Given the description of an element on the screen output the (x, y) to click on. 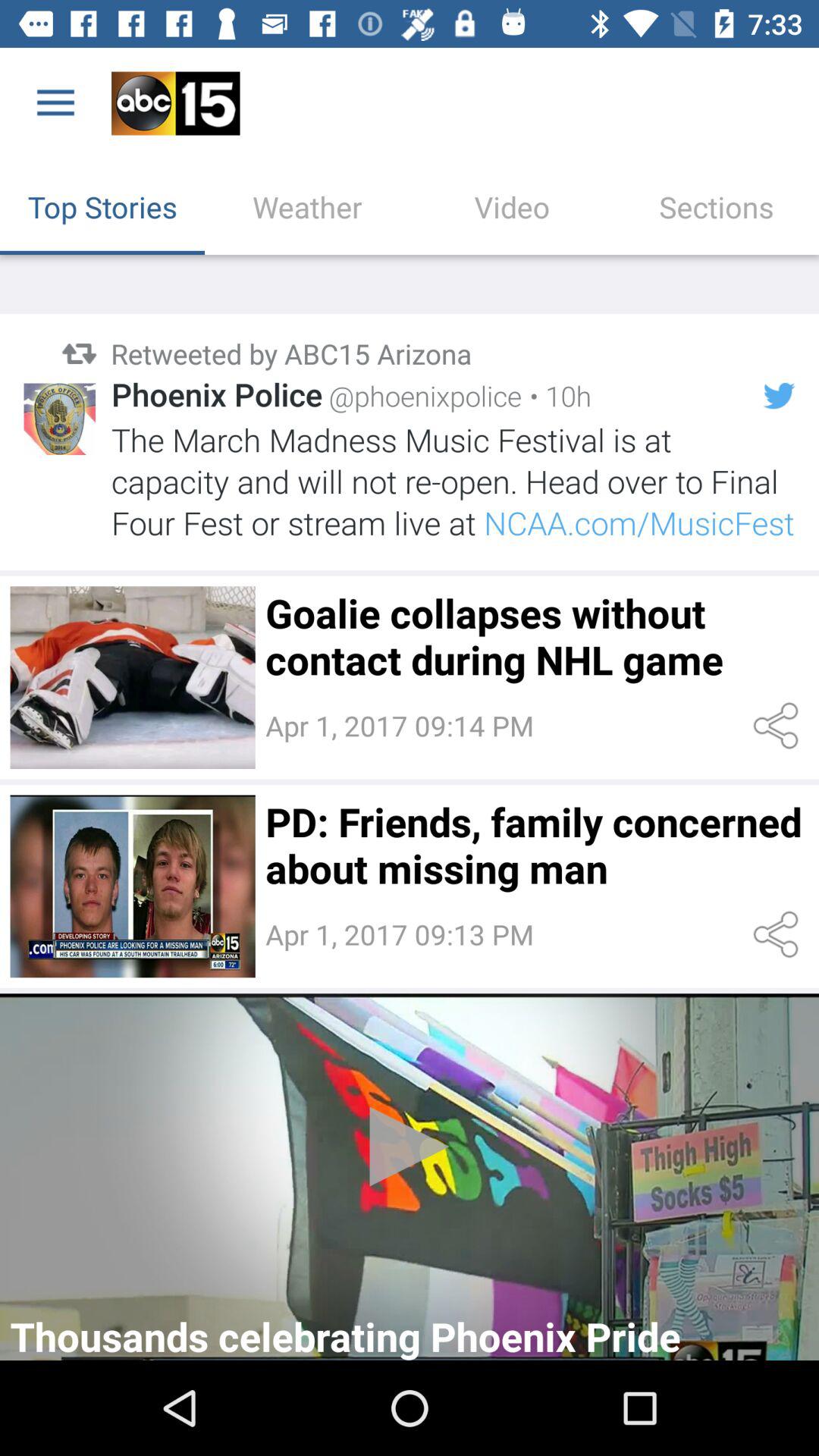
watch the video (409, 1176)
